Given the description of an element on the screen output the (x, y) to click on. 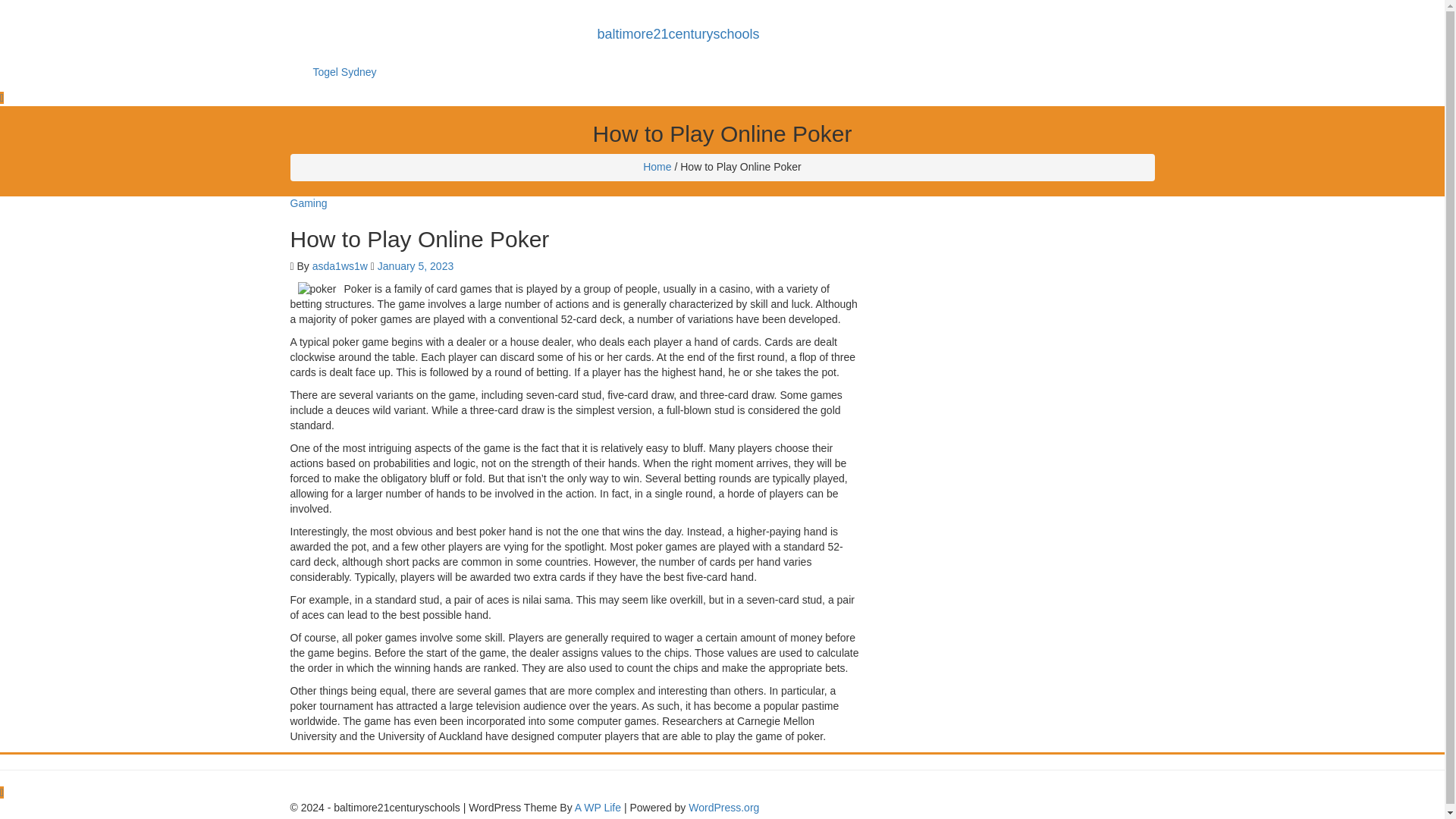
A WP Life (598, 806)
Togel Sydney (344, 71)
asda1ws1w (340, 265)
January 5, 2023 (414, 265)
Gaming (307, 203)
baltimore21centuryschools (677, 34)
Home (657, 166)
WordPress.org (723, 806)
